Given the description of an element on the screen output the (x, y) to click on. 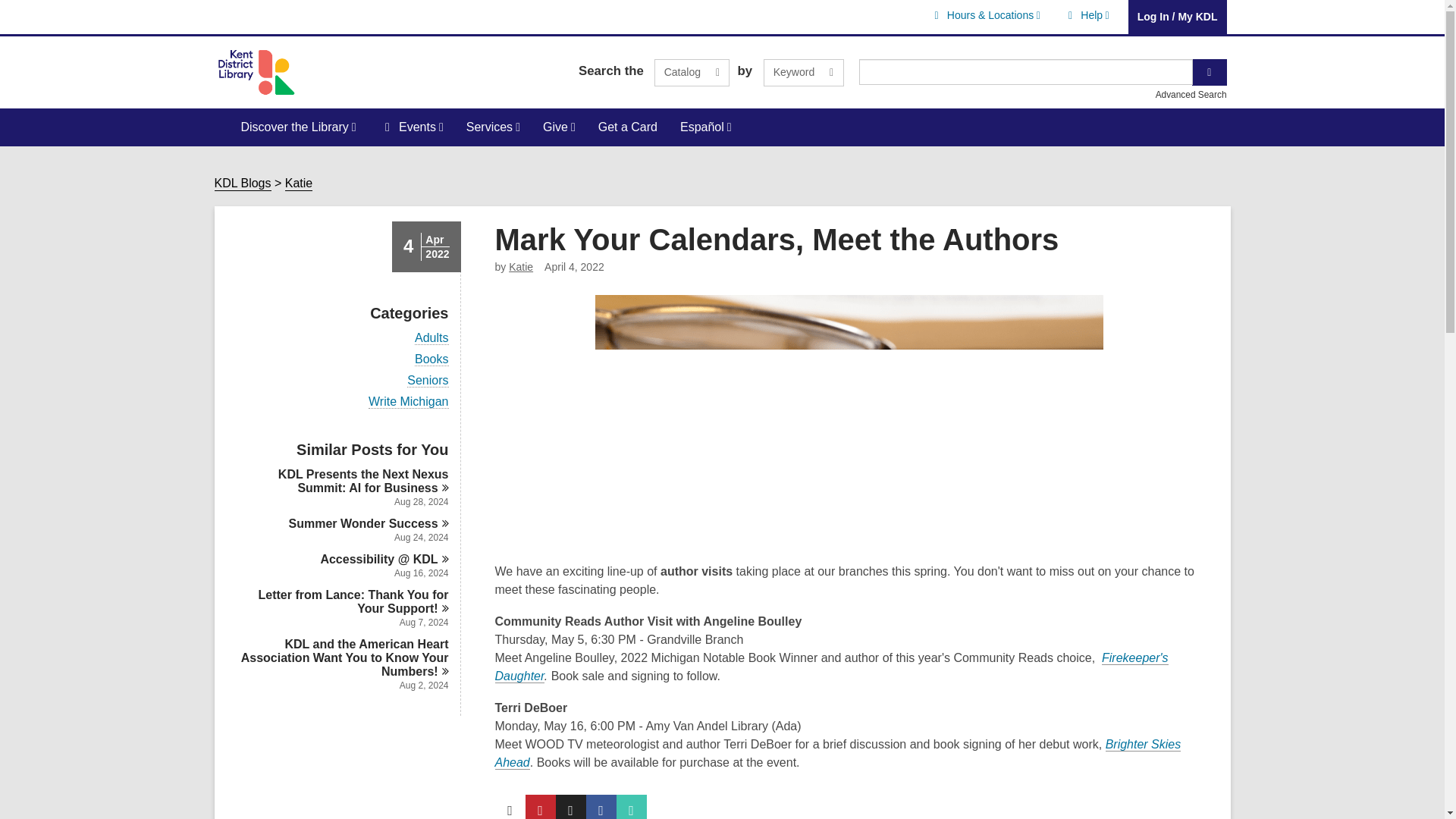
Keyword (1086, 15)
Catalog (691, 72)
